Given the description of an element on the screen output the (x, y) to click on. 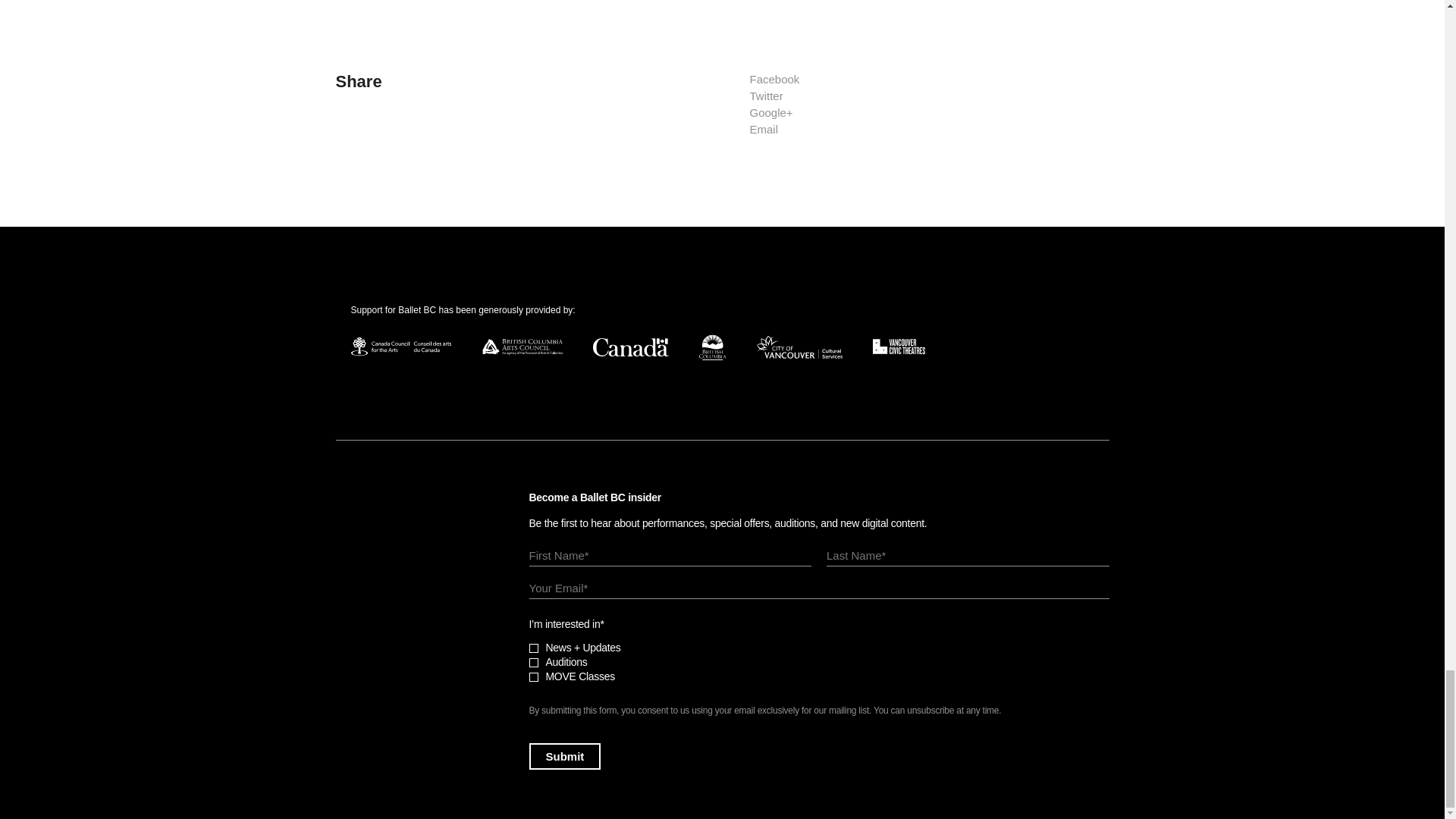
Email (763, 128)
OPTED-IN TO MARKETING (533, 647)
MOVE (533, 676)
Submit (565, 755)
AUDITIONS (533, 662)
Twitter (766, 95)
Facebook (774, 78)
